Given the description of an element on the screen output the (x, y) to click on. 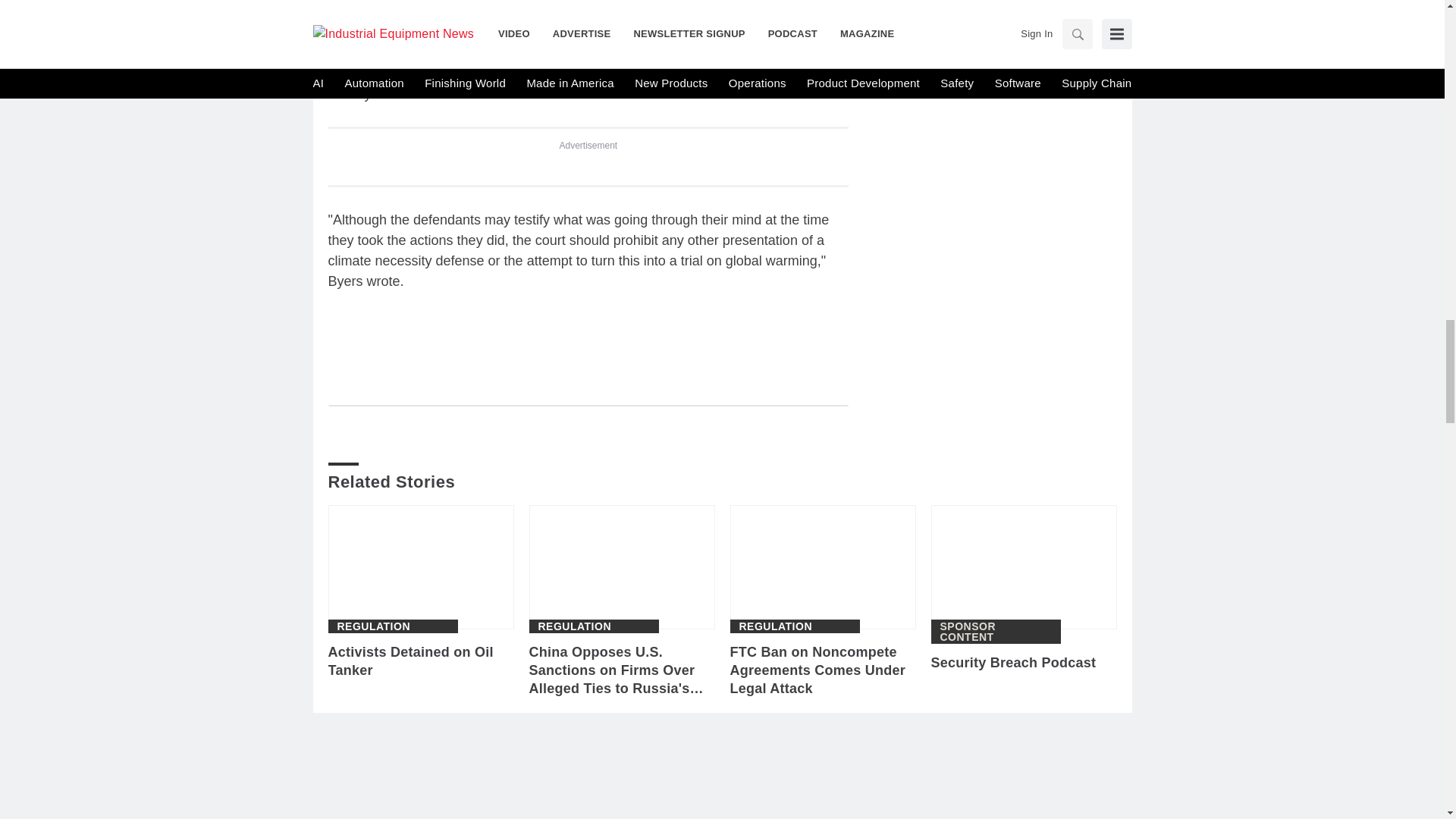
Regulation (373, 625)
Regulation (775, 625)
Regulation (574, 625)
Sponsor Content (996, 631)
